Given the description of an element on the screen output the (x, y) to click on. 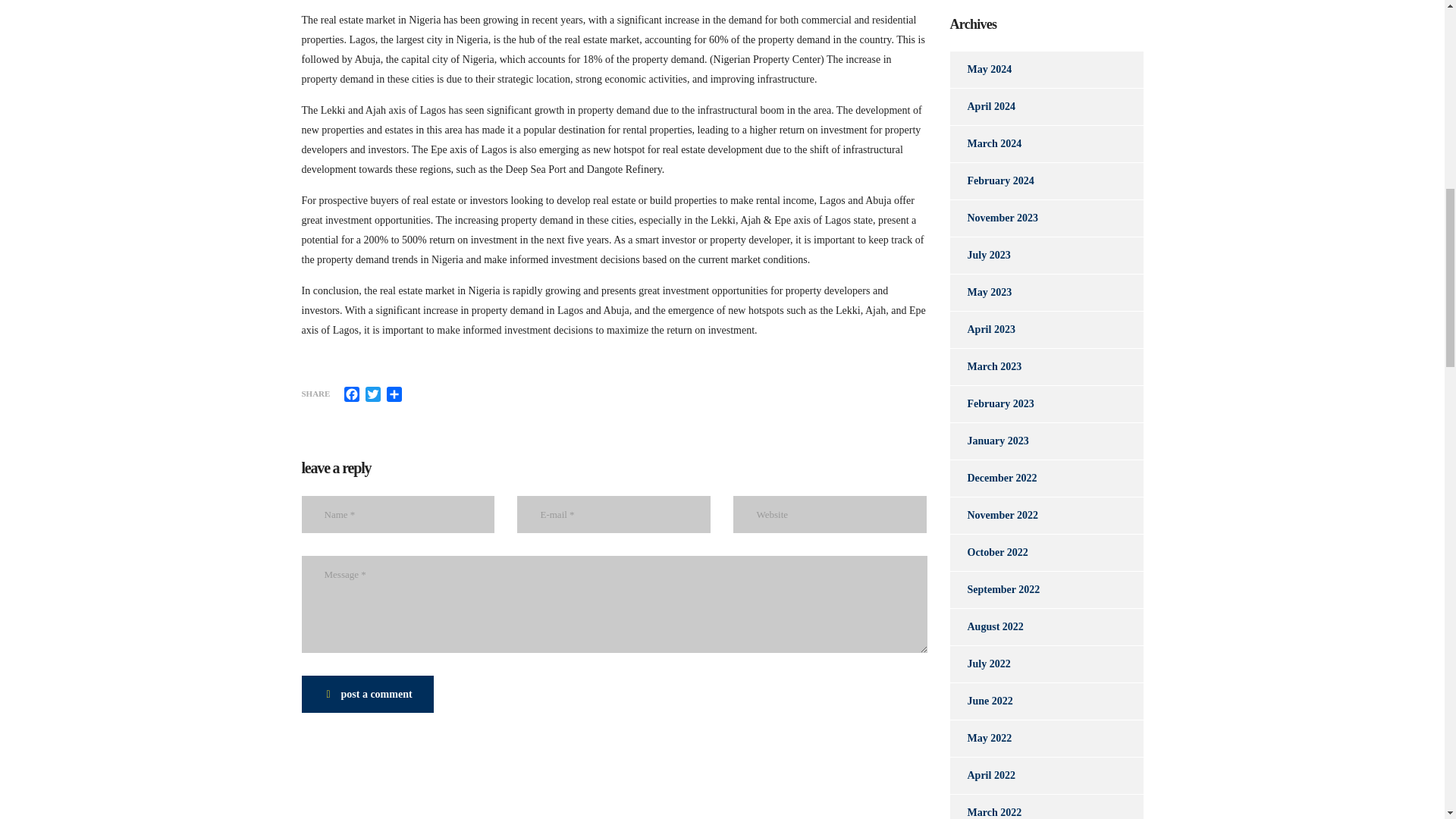
Share (394, 394)
March 2024 (985, 144)
Twitter (373, 394)
March 2023 (985, 366)
May 2024 (980, 69)
February 2024 (991, 180)
post a comment (367, 693)
Facebook (351, 394)
February 2023 (991, 403)
Facebook (351, 394)
July 2023 (979, 255)
May 2023 (980, 292)
Twitter (373, 394)
April 2023 (981, 330)
April 2024 (981, 106)
